Given the description of an element on the screen output the (x, y) to click on. 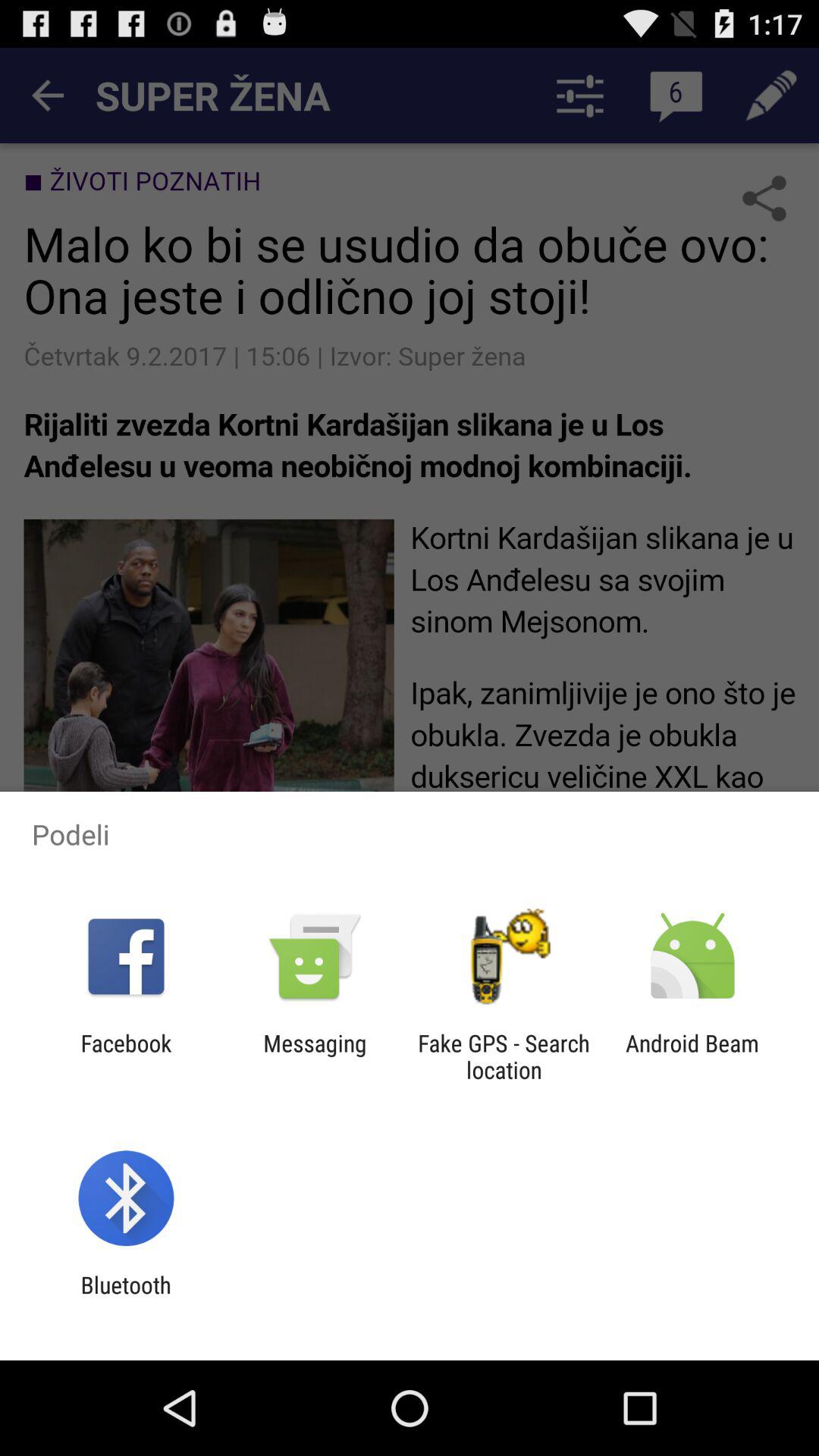
select icon to the left of the messaging (125, 1056)
